Given the description of an element on the screen output the (x, y) to click on. 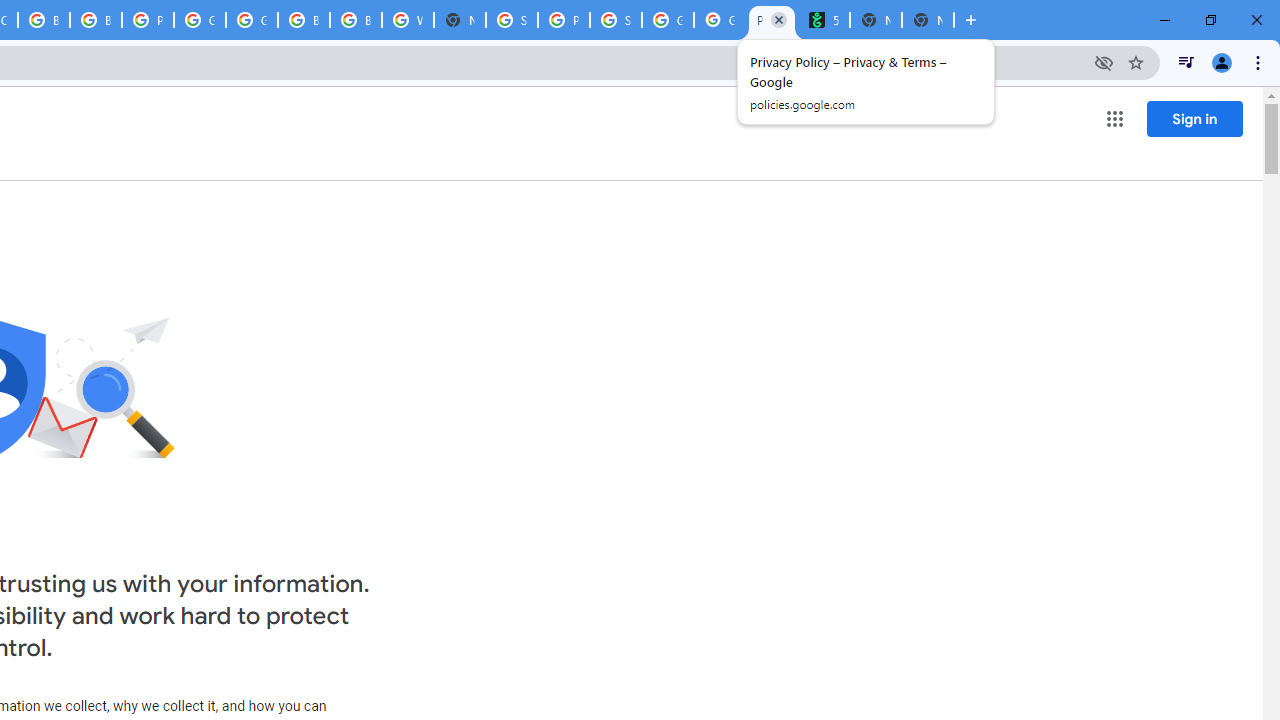
Browse Chrome as a guest - Computer - Google Chrome Help (355, 20)
New Tab (459, 20)
Google Cloud Platform (200, 20)
Browse Chrome as a guest - Computer - Google Chrome Help (43, 20)
